Given the description of an element on the screen output the (x, y) to click on. 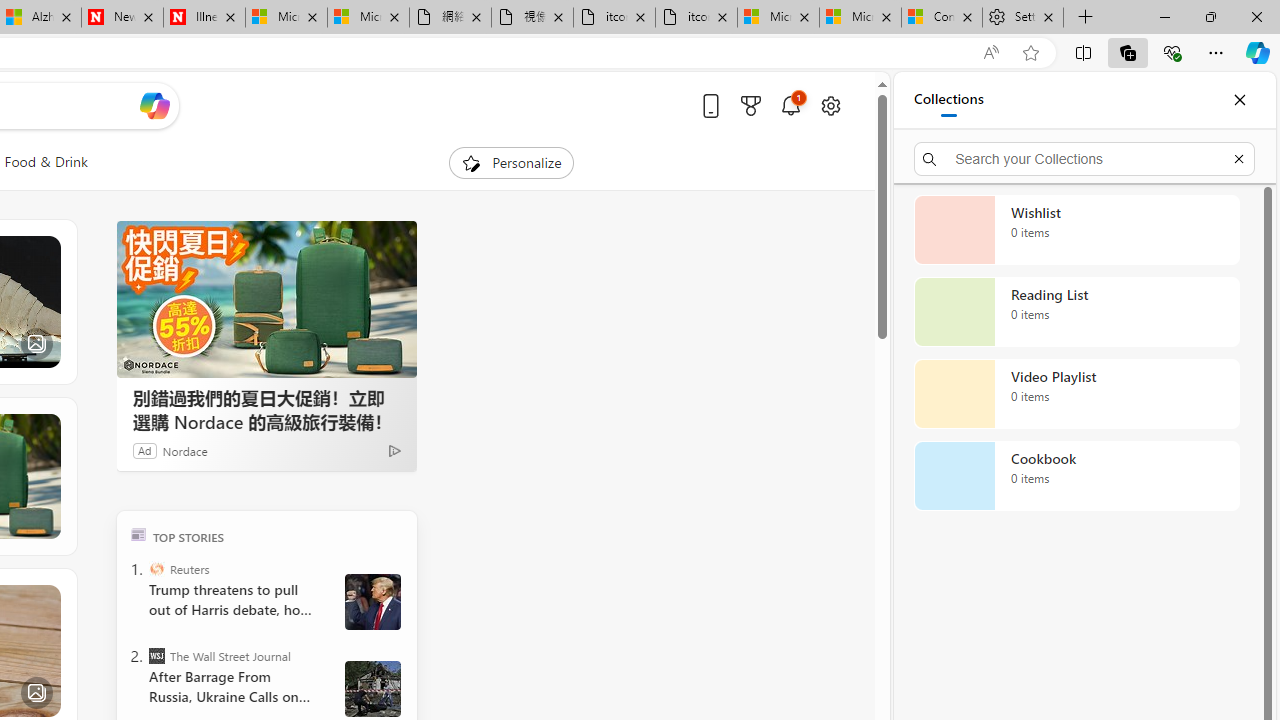
Search your Collections (1084, 158)
TOP (138, 534)
Reading List collection, 0 items (1076, 312)
Consumer Health Data Privacy Policy (941, 17)
Exit search (1238, 158)
